Given the description of an element on the screen output the (x, y) to click on. 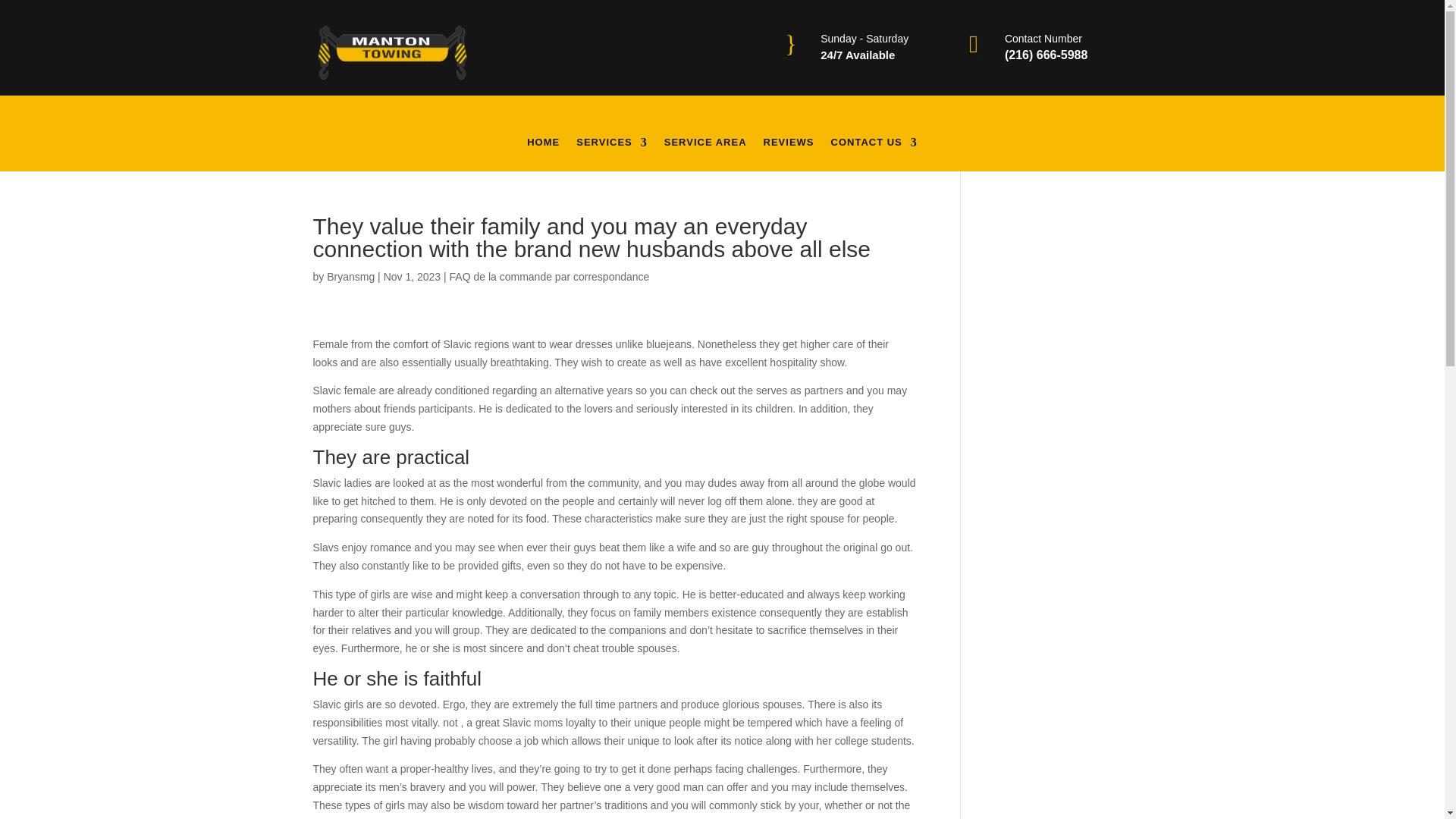
HOME (543, 153)
LOGO (390, 51)
CONTACT US (874, 153)
FAQ de la commande par correspondance (549, 276)
Posts by Bryansmg (350, 276)
Bryansmg (350, 276)
REVIEWS (787, 153)
SERVICE AREA (704, 153)
SERVICES (611, 153)
